Given the description of an element on the screen output the (x, y) to click on. 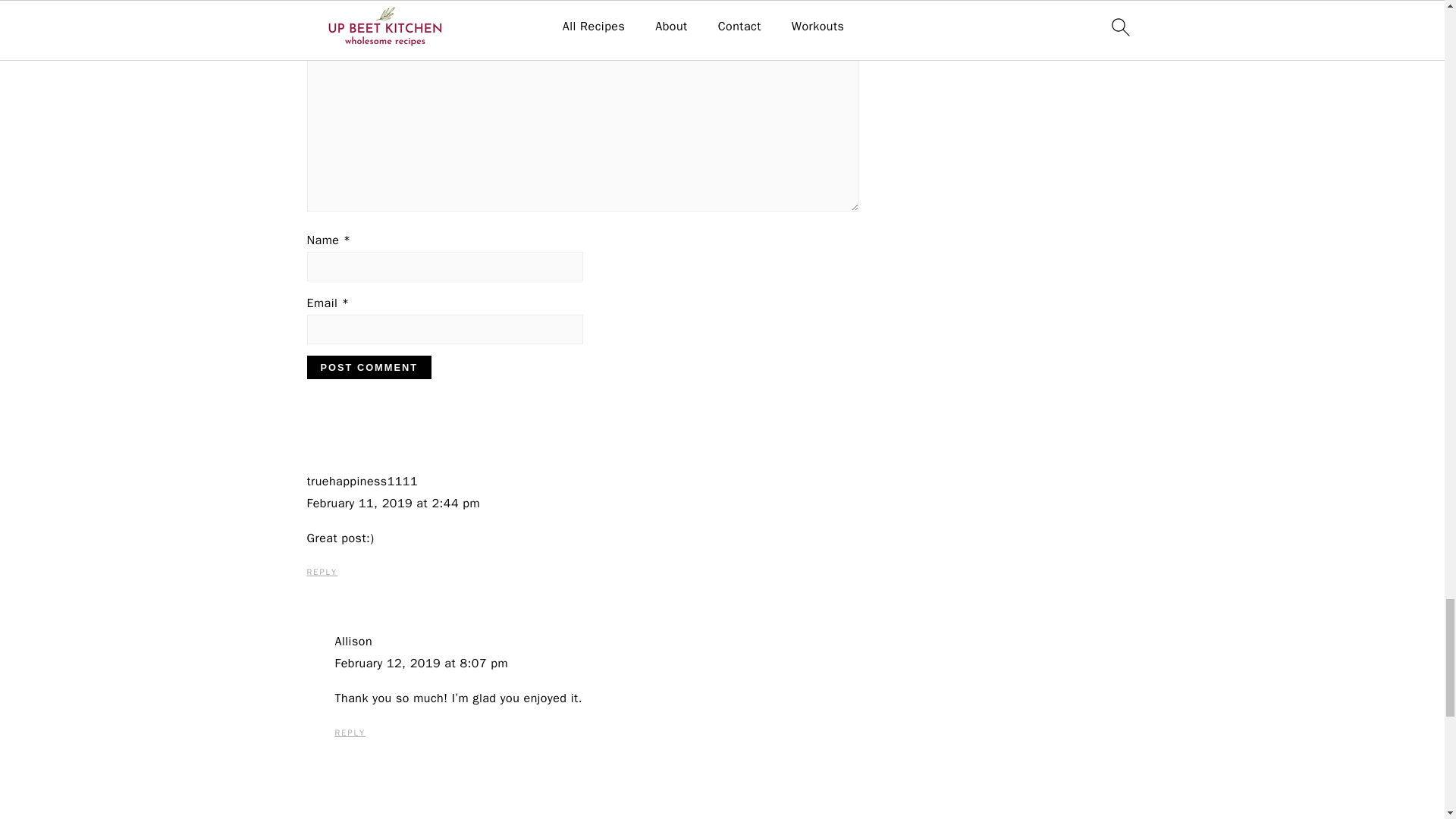
Post Comment (367, 367)
